Given the description of an element on the screen output the (x, y) to click on. 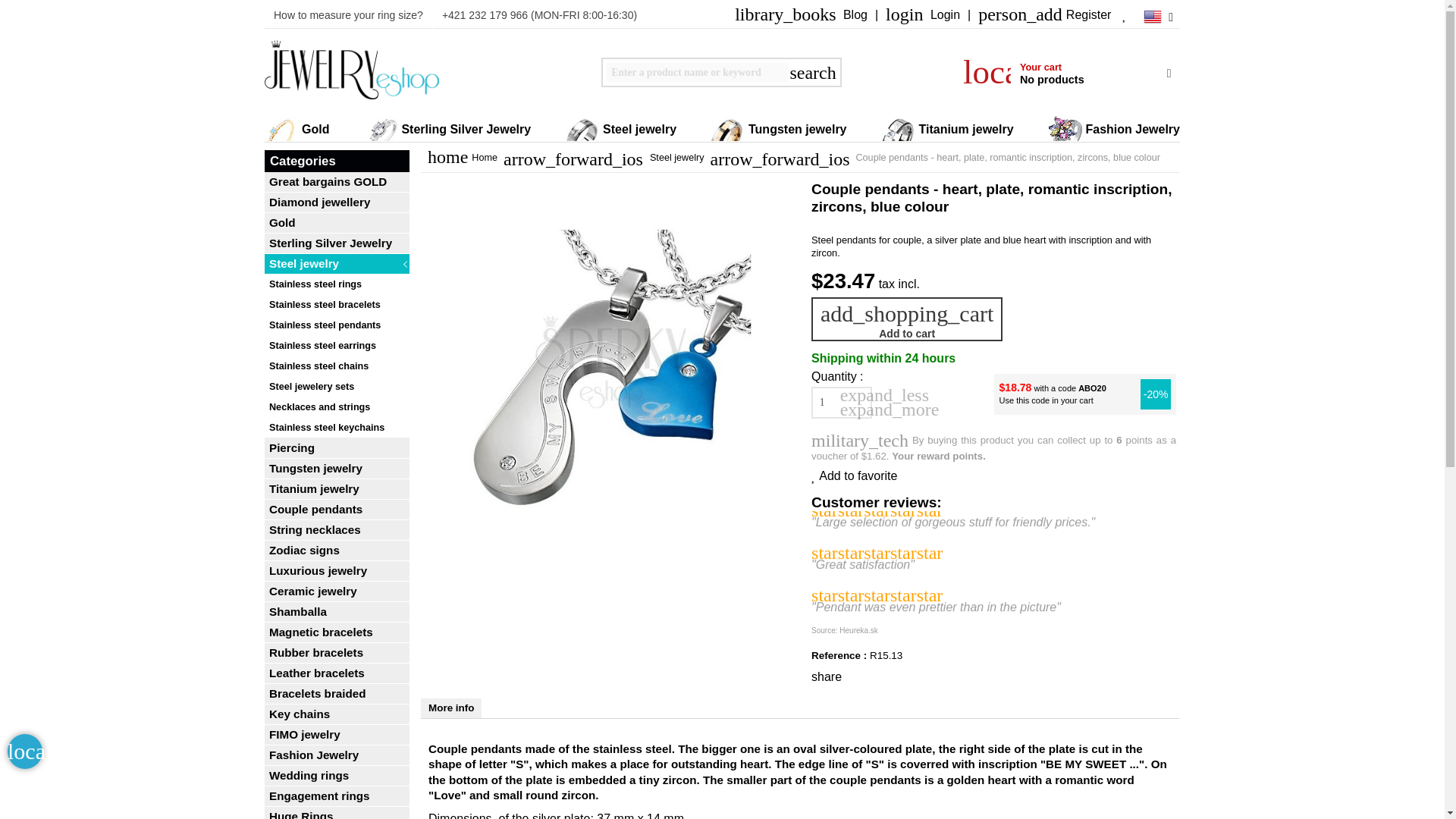
How to measure your ring size? (348, 14)
Sterling Silver Jewelry (447, 128)
Gold (296, 128)
Jewelry Eshop (351, 72)
login Login (922, 15)
Enter a product name or keyword (698, 72)
